Given the description of an element on the screen output the (x, y) to click on. 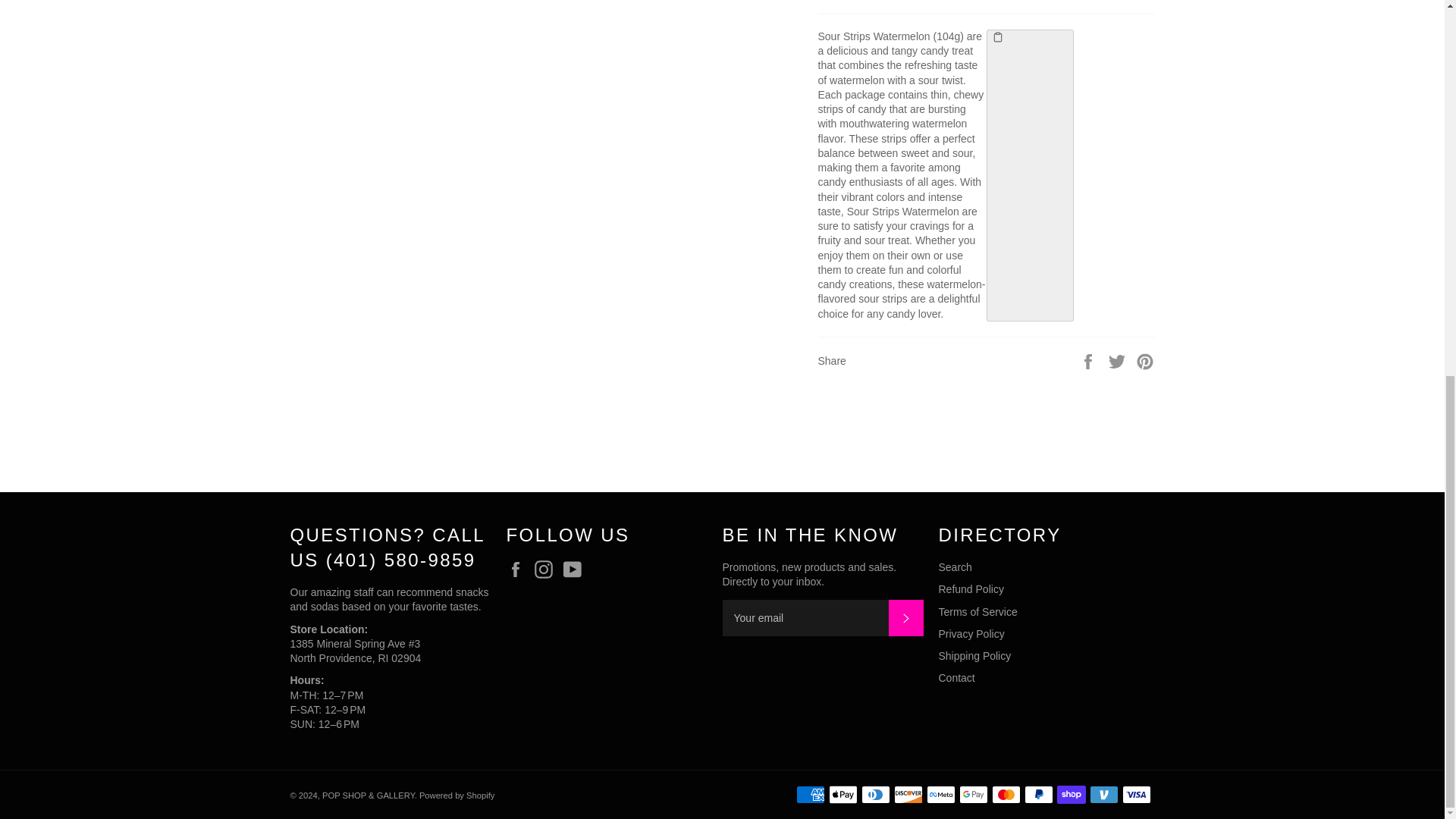
Tweet on Twitter (1118, 360)
Share on Facebook (1089, 360)
Pin on Pinterest (1144, 360)
